Given the description of an element on the screen output the (x, y) to click on. 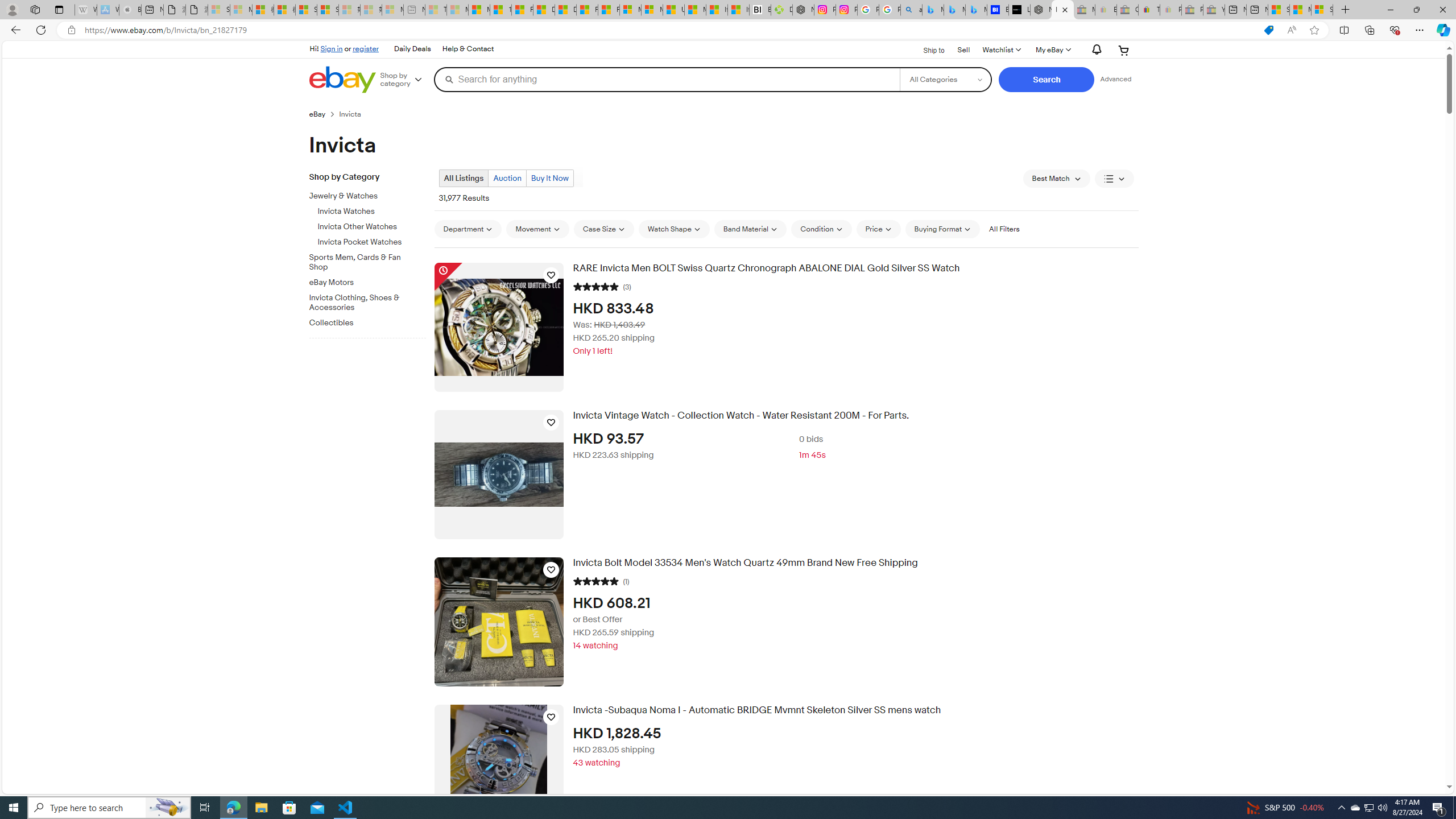
Invicta Other Watches (371, 224)
Auction (507, 178)
Buy iPad - Apple - Sleeping (130, 9)
Department (467, 229)
All Filters (1004, 229)
Case Size (603, 229)
Invicta Watches (371, 209)
Band Material (750, 229)
